Given the description of an element on the screen output the (x, y) to click on. 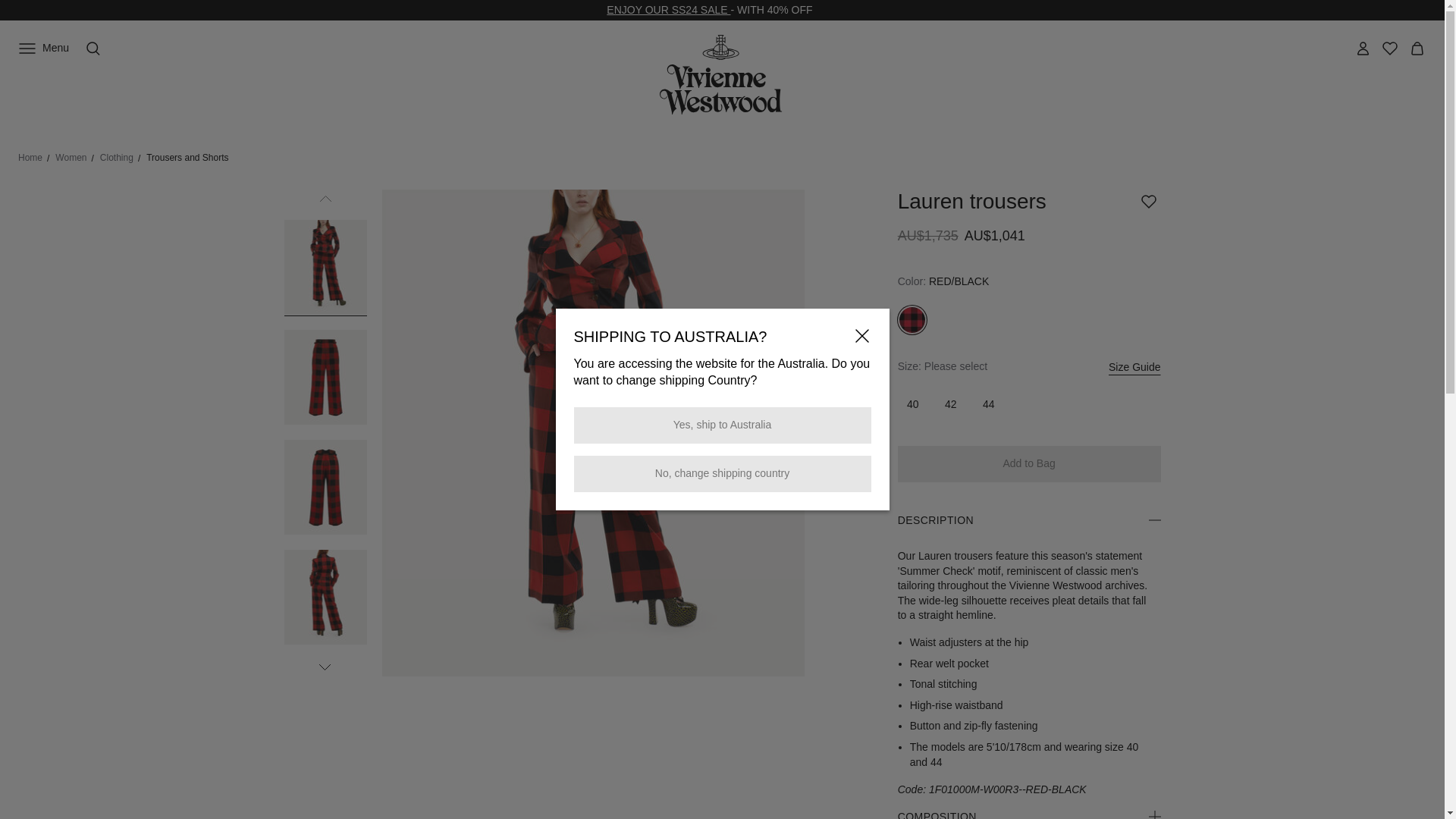
Menu (42, 48)
Wishlist (1389, 48)
Home page (724, 74)
View your cart (1417, 48)
Menu (42, 48)
ENJOY OUR SS24 SALE (668, 9)
Search (93, 48)
Sign In (1362, 48)
